Given the description of an element on the screen output the (x, y) to click on. 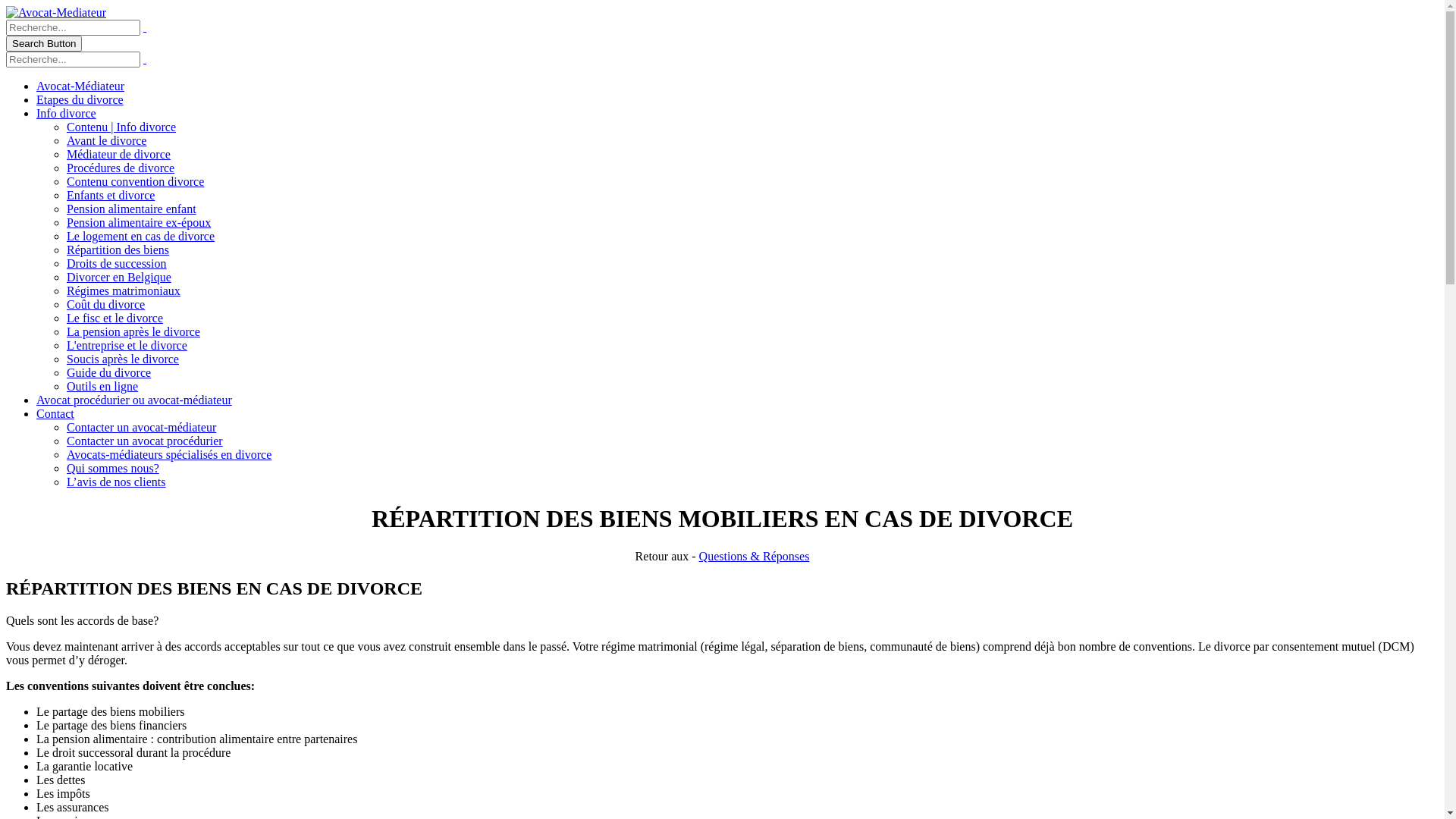
Le fisc et le divorce Element type: text (114, 317)
Search Button Element type: text (43, 43)
Contenu convention divorce Element type: text (134, 181)
Contenu | Info divorce Element type: text (120, 126)
Enfants et divorce Element type: text (110, 194)
L'entreprise et le divorce Element type: text (126, 344)
Contact Element type: text (55, 413)
Info divorce Element type: text (66, 112)
  Element type: text (144, 58)
Pension alimentaire enfant Element type: text (131, 208)
Avocat-Mediateur Element type: hover (56, 12)
Qui sommes nous? Element type: text (112, 467)
Avant le divorce Element type: text (106, 140)
Le logement en cas de divorce Element type: text (140, 235)
Guide du divorce Element type: text (108, 372)
  Element type: text (144, 26)
Outils en ligne Element type: text (102, 385)
Droits de succession Element type: text (116, 263)
Etapes du divorce Element type: text (79, 99)
Divorcer en Belgique Element type: text (118, 276)
